Given the description of an element on the screen output the (x, y) to click on. 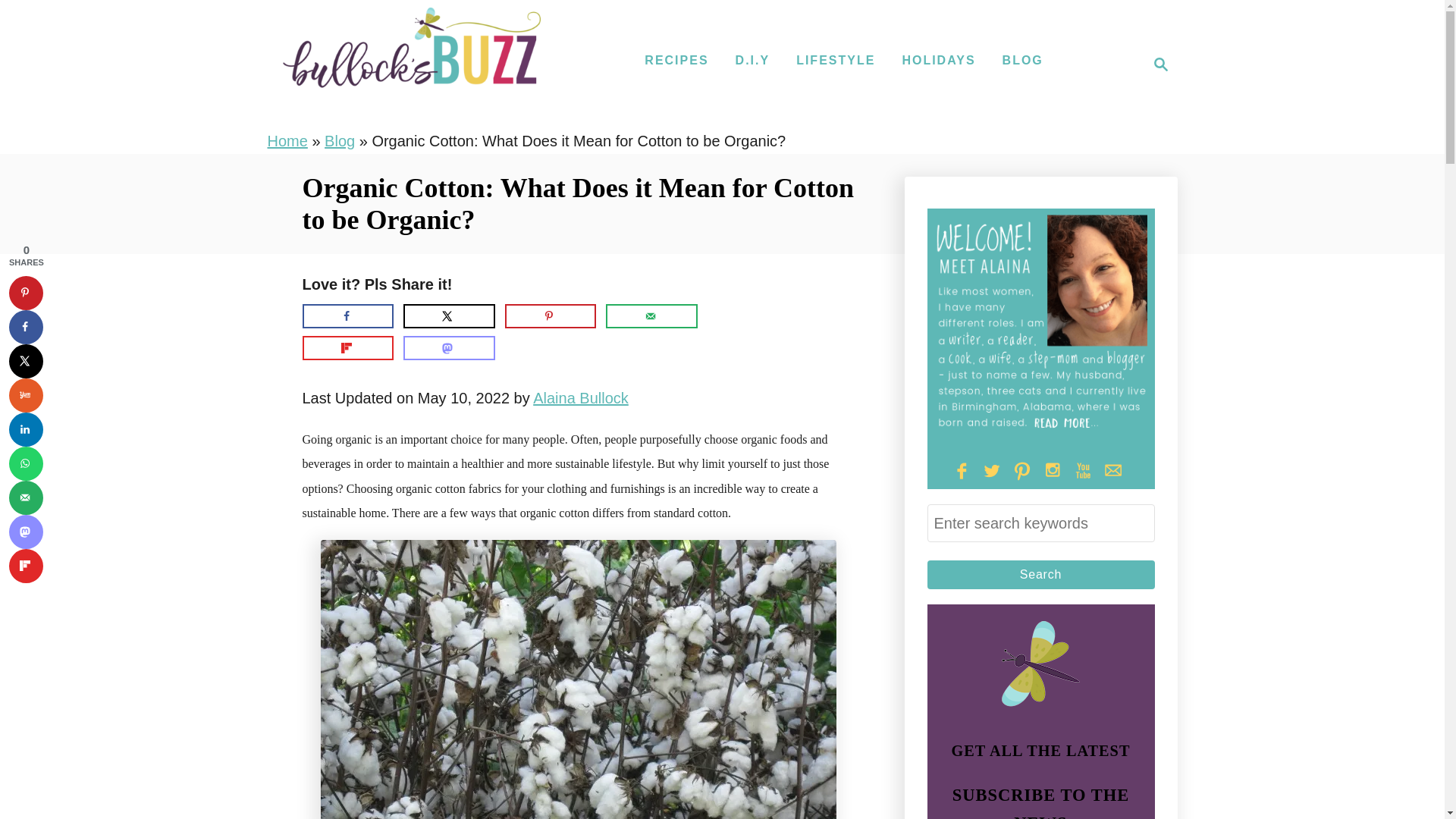
HOLIDAYS (937, 60)
Save to Pinterest (25, 293)
Blog (339, 140)
Share on Mastodon (449, 347)
Share on Facebook (347, 315)
Search (1040, 574)
Send over email (651, 315)
Bullock's Buzz (411, 64)
Share on X (449, 315)
Search (1040, 574)
